Given the description of an element on the screen output the (x, y) to click on. 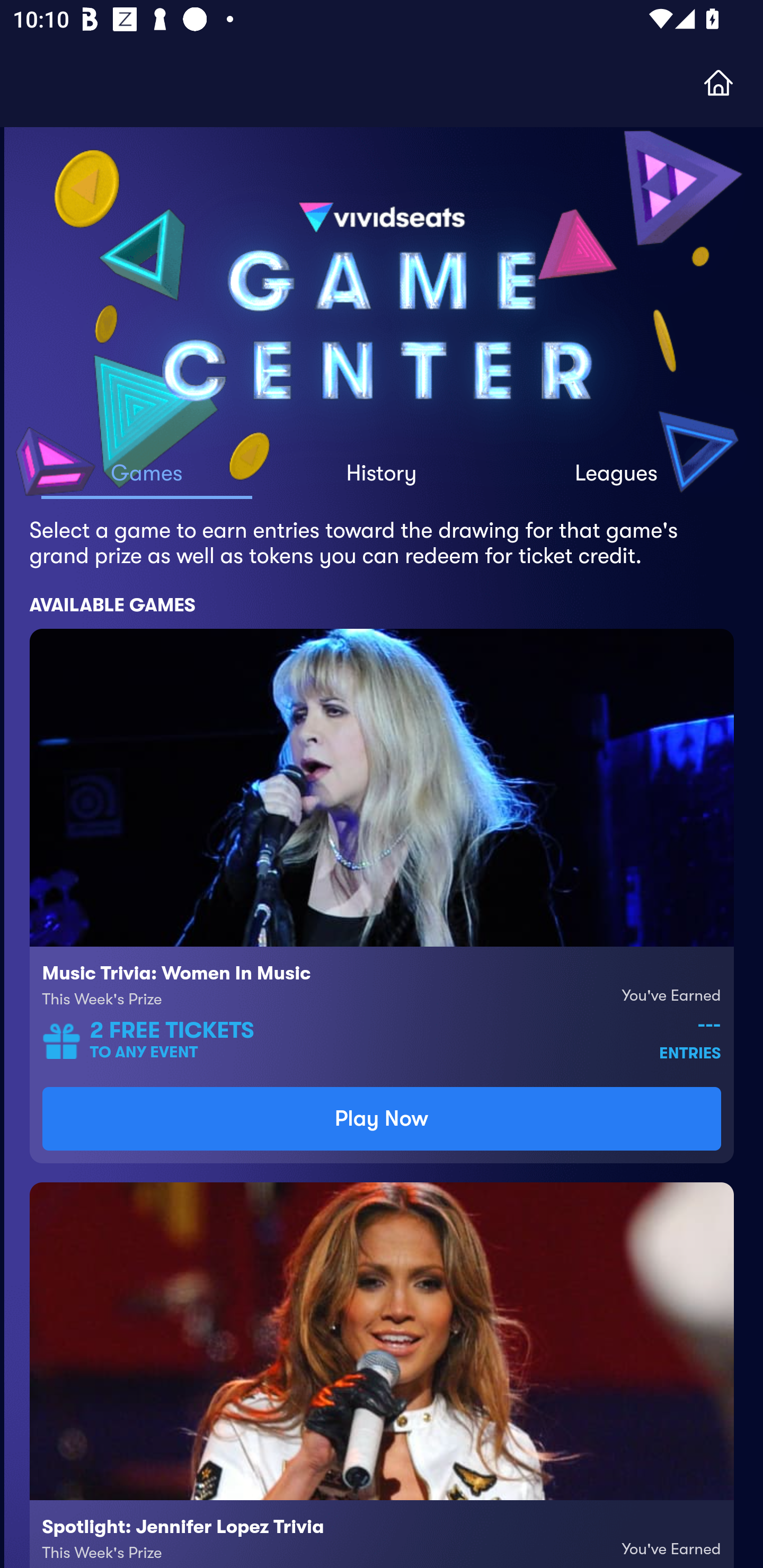
Games (146, 479)
History (381, 479)
Leagues (615, 479)
Play Now (381, 1118)
